Given the description of an element on the screen output the (x, y) to click on. 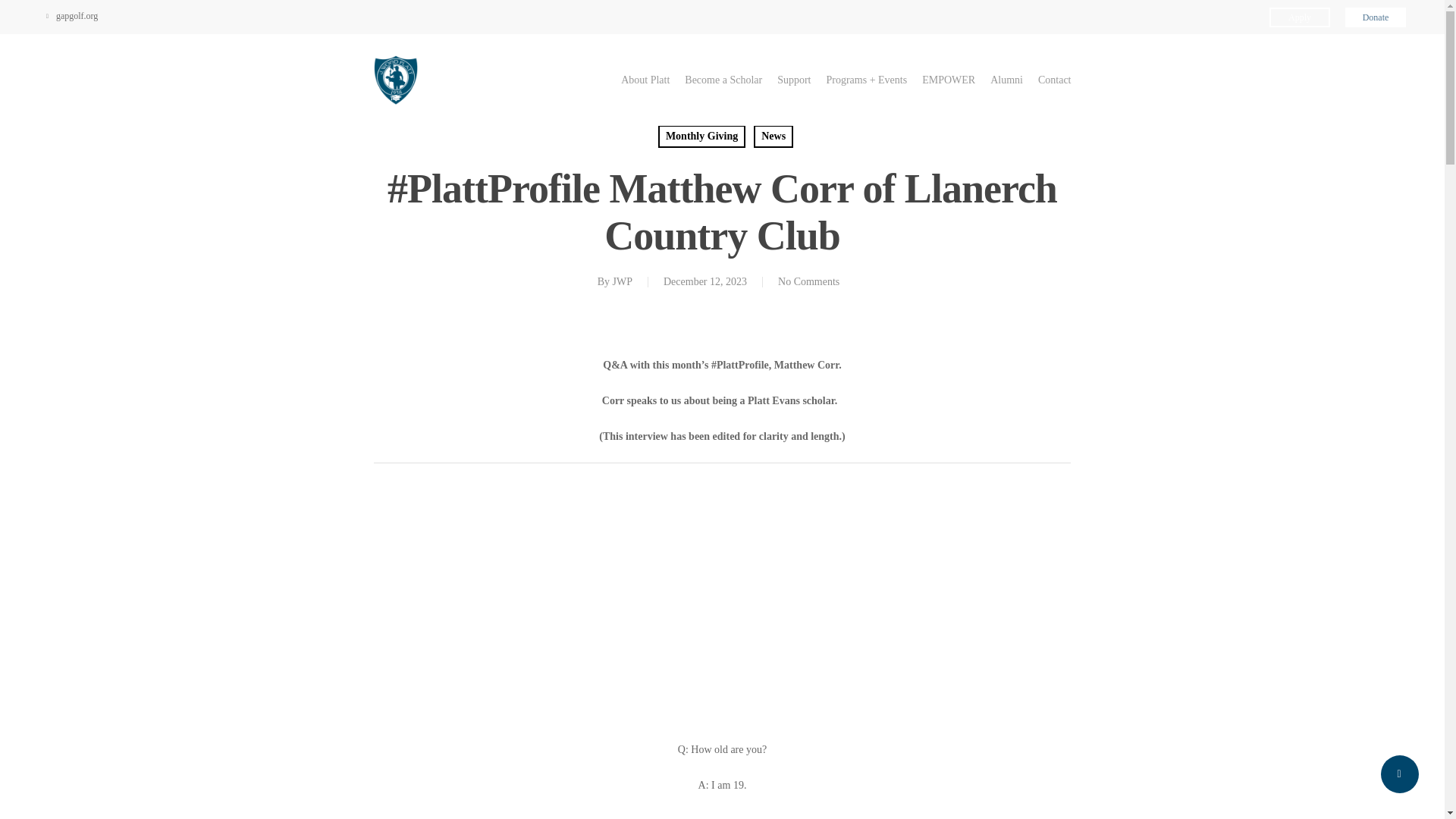
Donate (1375, 17)
EMPOWER (948, 79)
gapgolf.org (71, 15)
Posts by JWP (621, 281)
Support (793, 79)
Apply (1299, 17)
Alumni (1006, 79)
About Platt (645, 79)
Become a Scholar (722, 79)
